Given the description of an element on the screen output the (x, y) to click on. 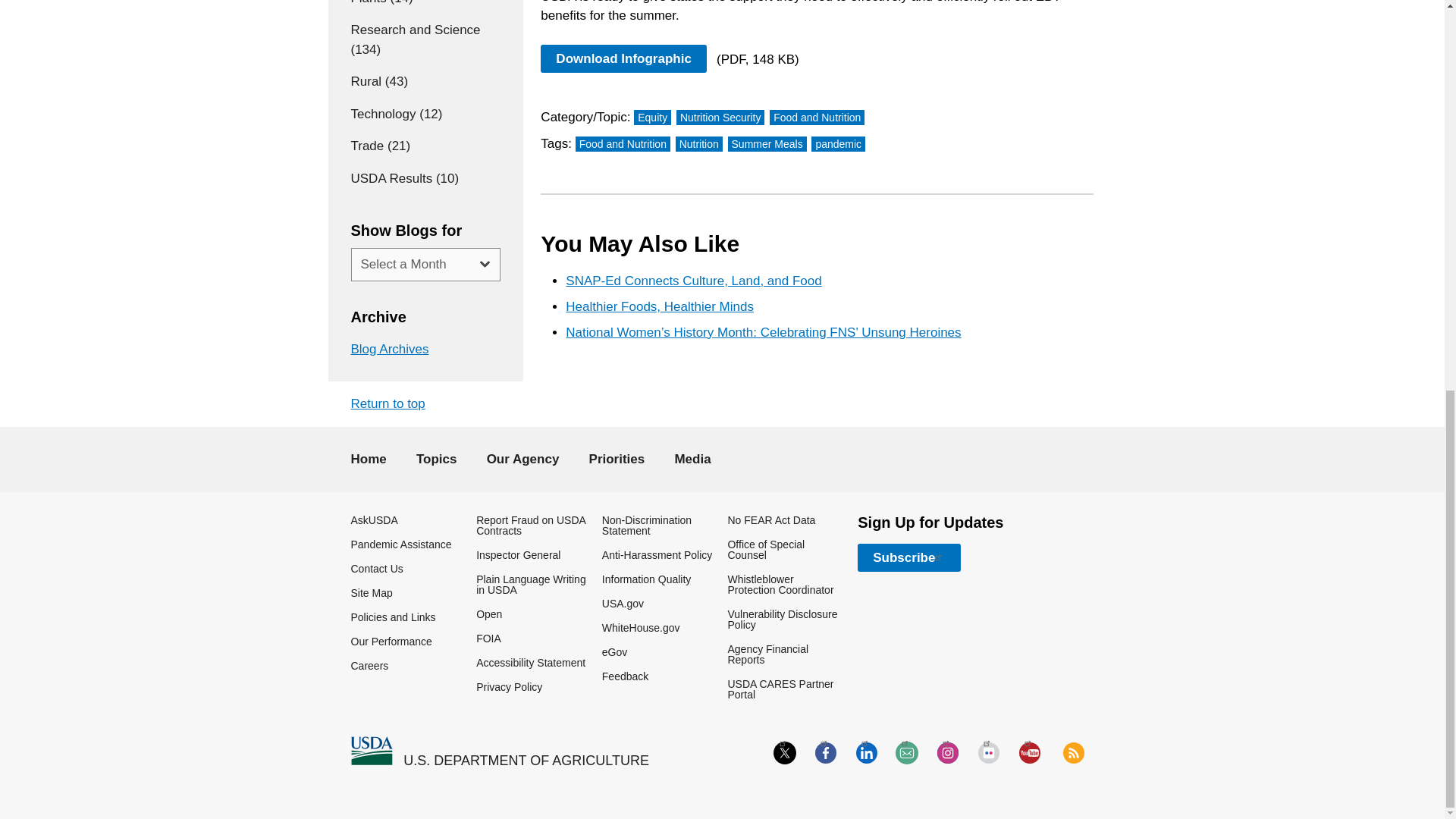
Home (370, 750)
Home (526, 760)
